Given the description of an element on the screen output the (x, y) to click on. 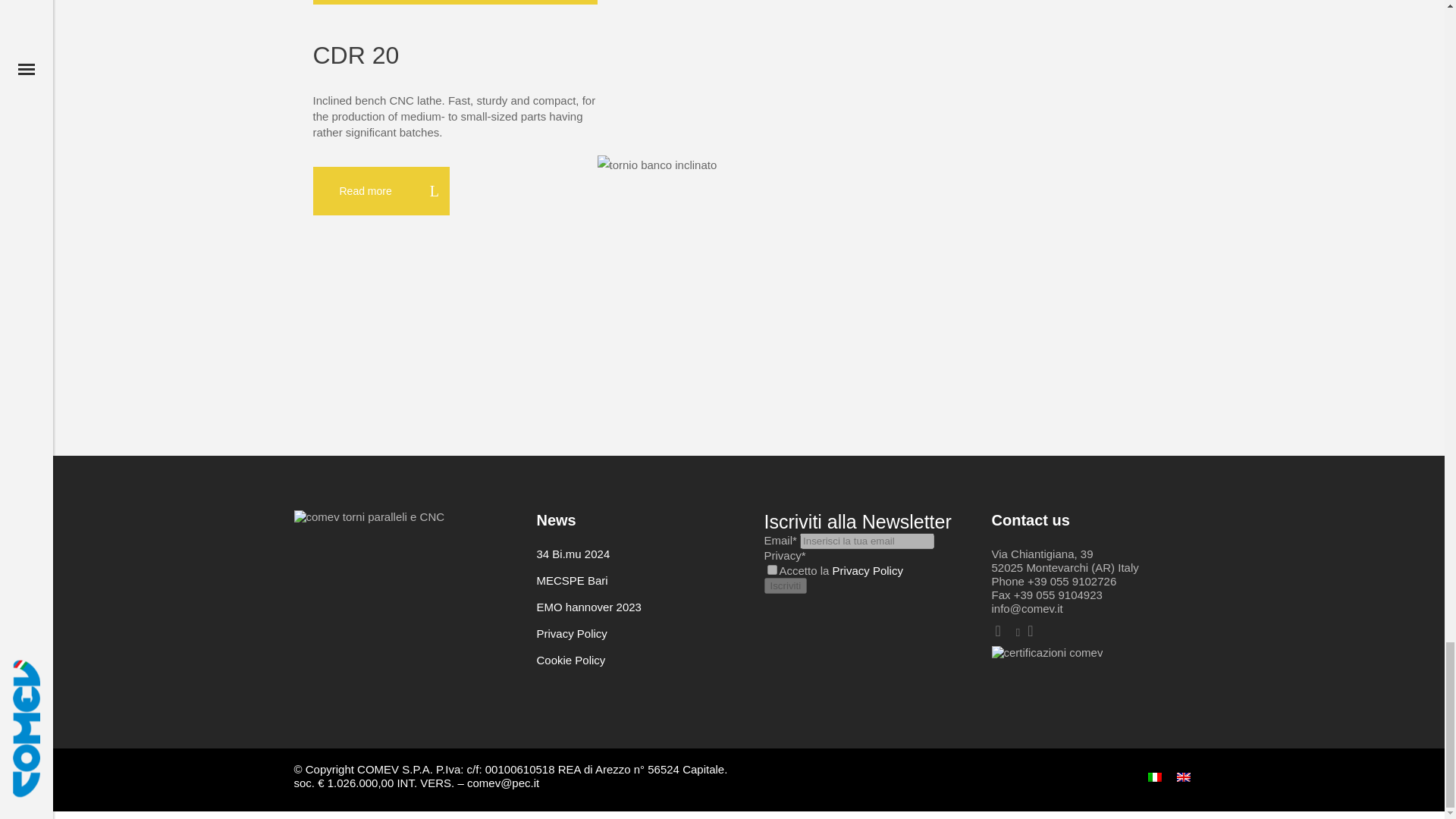
on (772, 569)
